Given the description of an element on the screen output the (x, y) to click on. 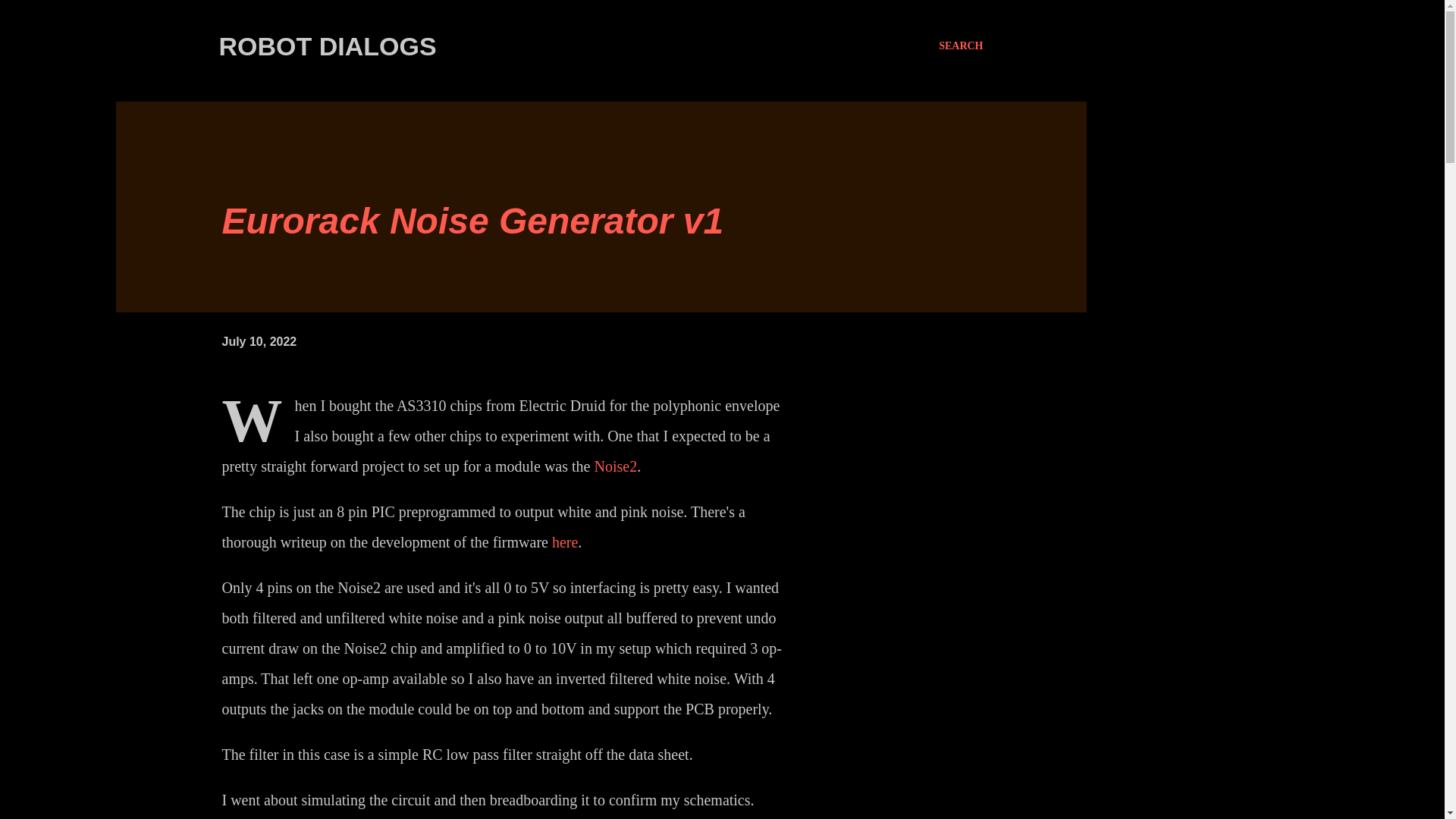
Noise2 (615, 466)
permanent link (259, 341)
SEARCH (960, 45)
July 10, 2022 (259, 341)
ROBOT DIALOGS (326, 45)
here (564, 541)
